Given the description of an element on the screen output the (x, y) to click on. 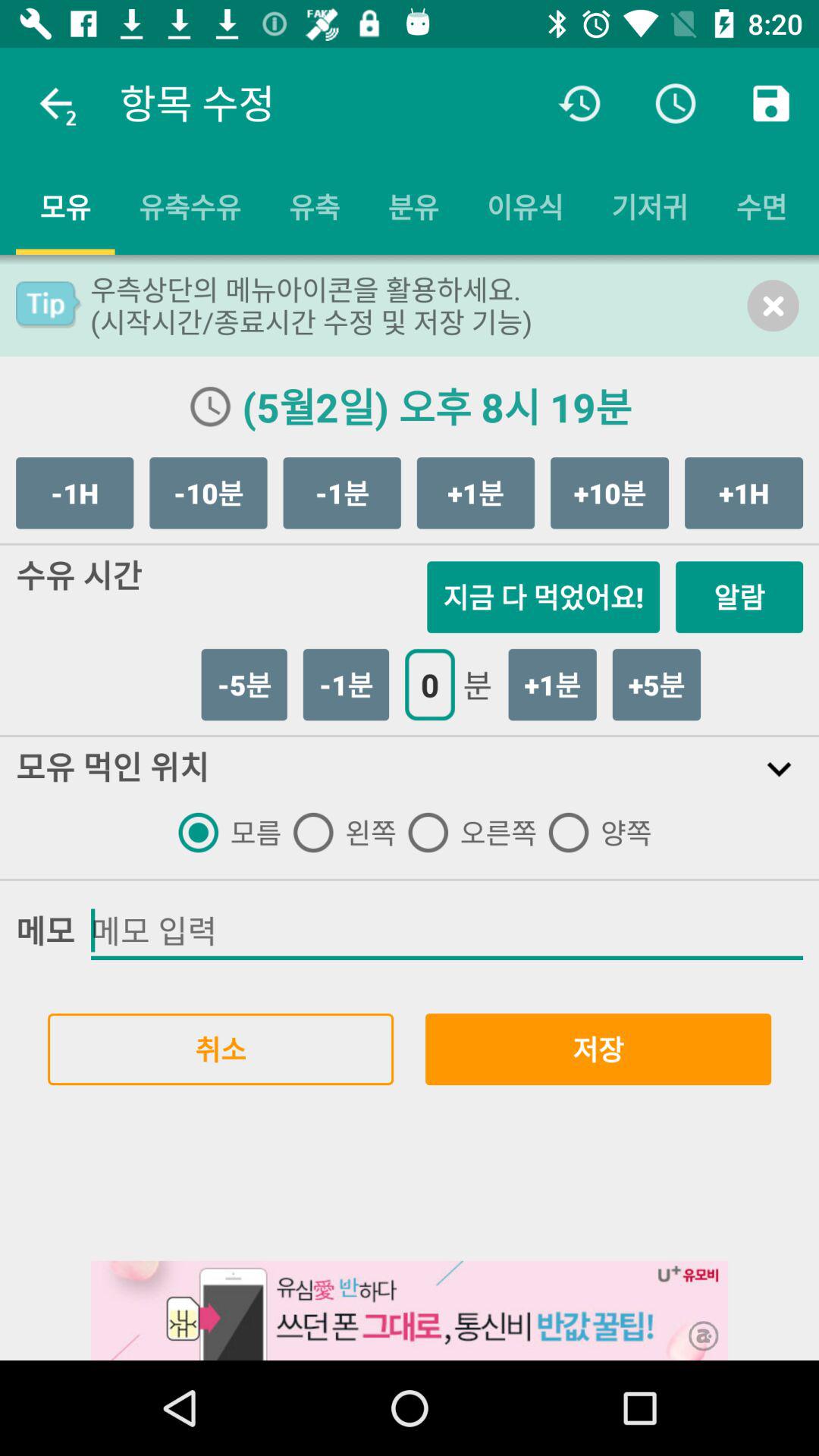
go to first option under menu bar of second black color title (224, 832)
select the box below 1h (739, 596)
select second radio button (338, 832)
click on third dark grey color button from top (342, 493)
click on the 1 button which is left to the button 0 (346, 684)
